Given the description of an element on the screen output the (x, y) to click on. 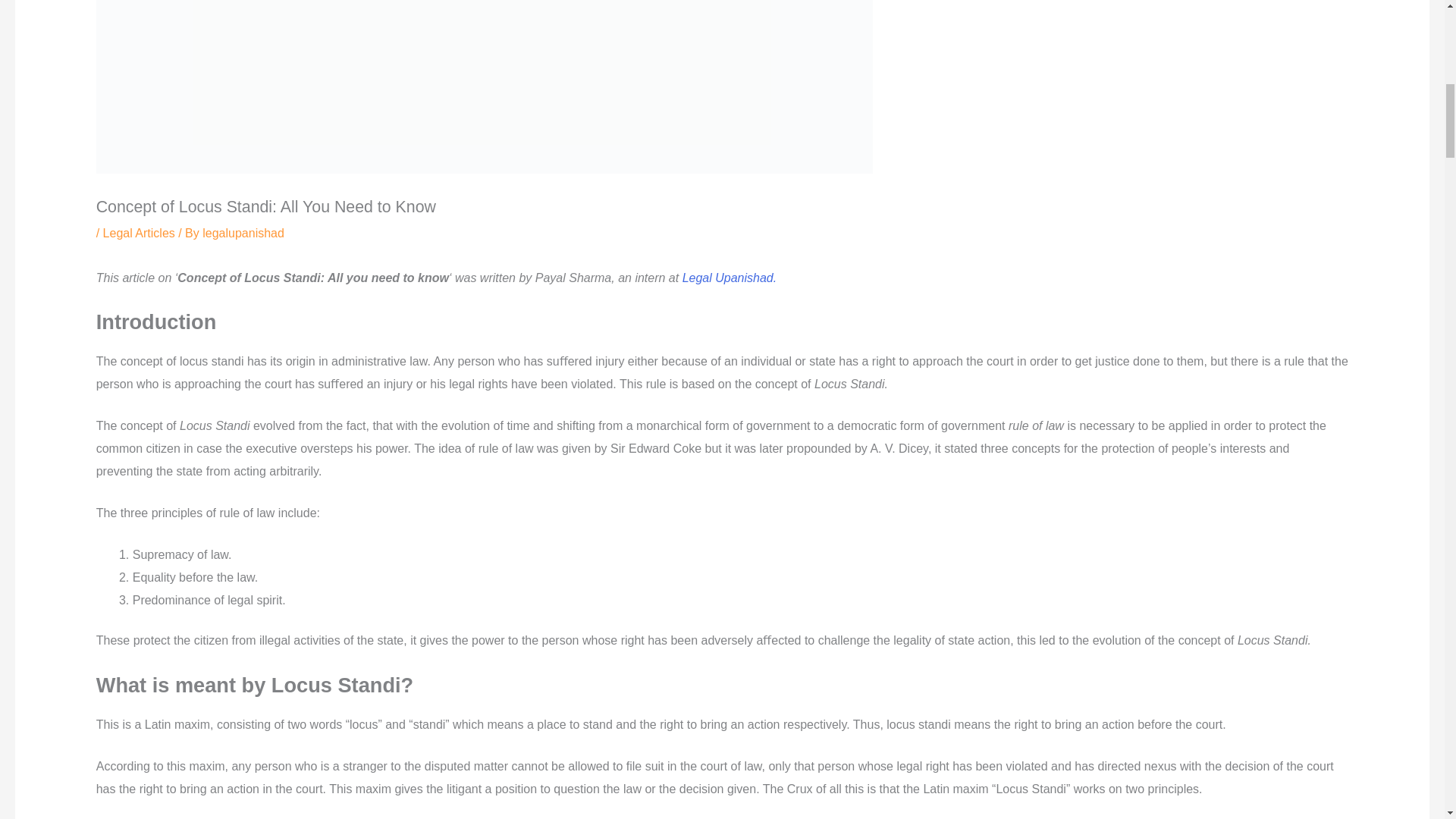
legalupanishad (242, 232)
View all posts by legalupanishad (242, 232)
Legal Articles (138, 232)
Legal Upanishad. (729, 277)
